Given the description of an element on the screen output the (x, y) to click on. 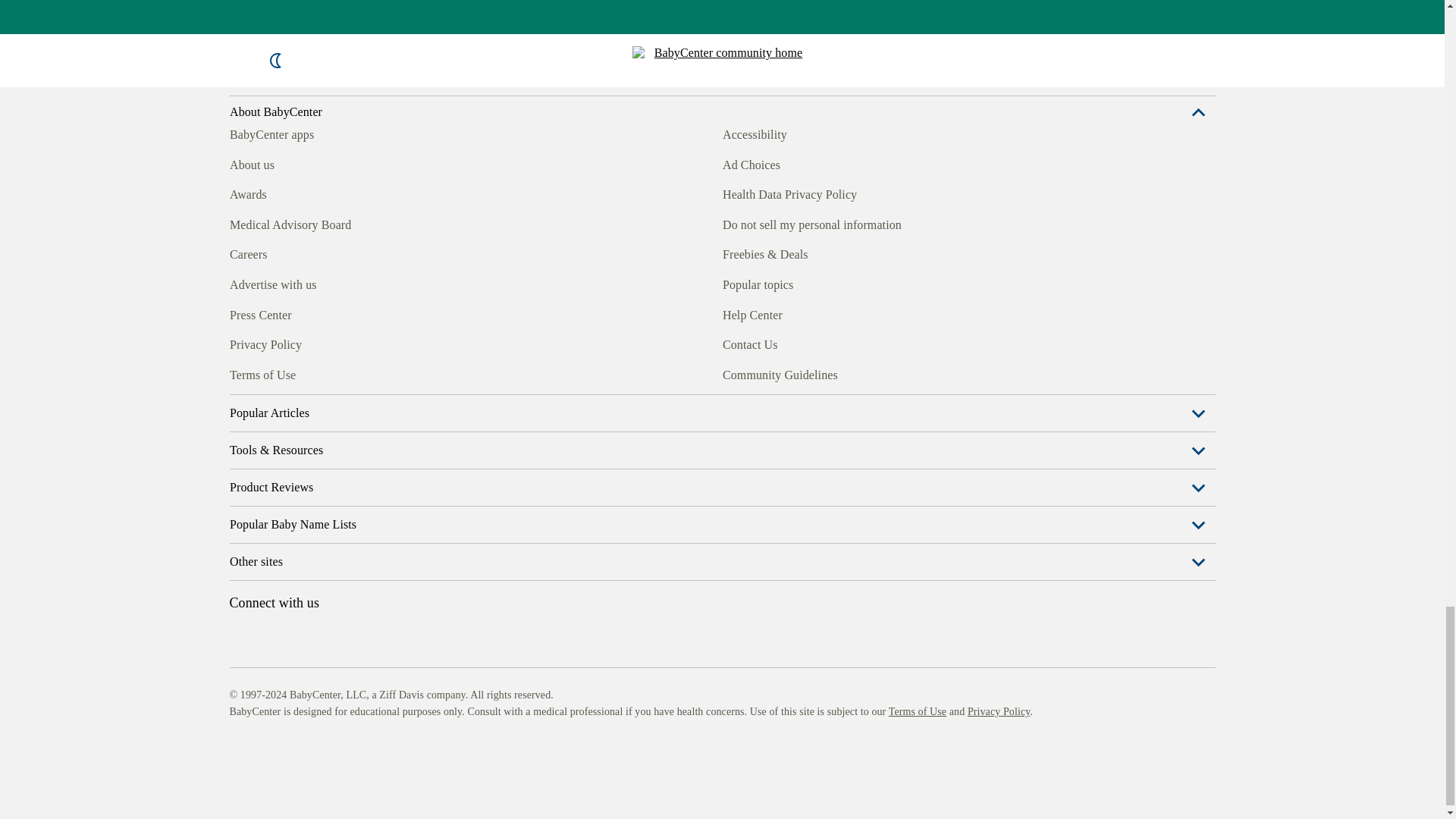
BabyCenter Instagram feed (274, 372)
BabyCenter YouTube channel (344, 372)
BabyCenter Twitter feed (379, 372)
BabyCenter Facebook page (239, 372)
BabyCenter Pinterest board (309, 372)
